Given the description of an element on the screen output the (x, y) to click on. 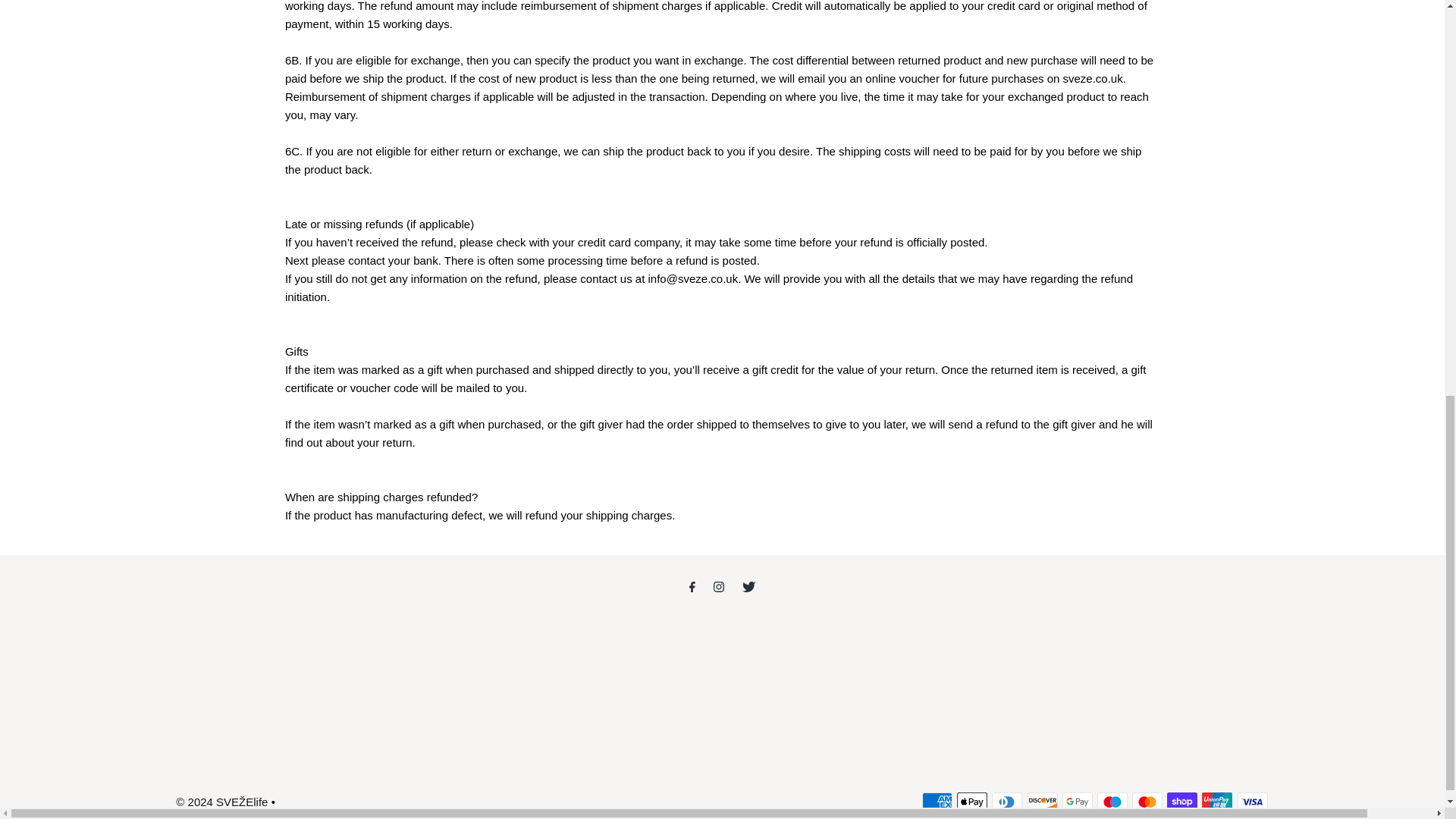
Diners Club (1006, 801)
Visa (1252, 801)
Mastercard (1146, 801)
American Express (936, 801)
Google Pay (1077, 801)
Apple Pay (971, 801)
Union Pay (1216, 801)
Discover (1042, 801)
Shop Pay (1181, 801)
Maestro (1111, 801)
